Given the description of an element on the screen output the (x, y) to click on. 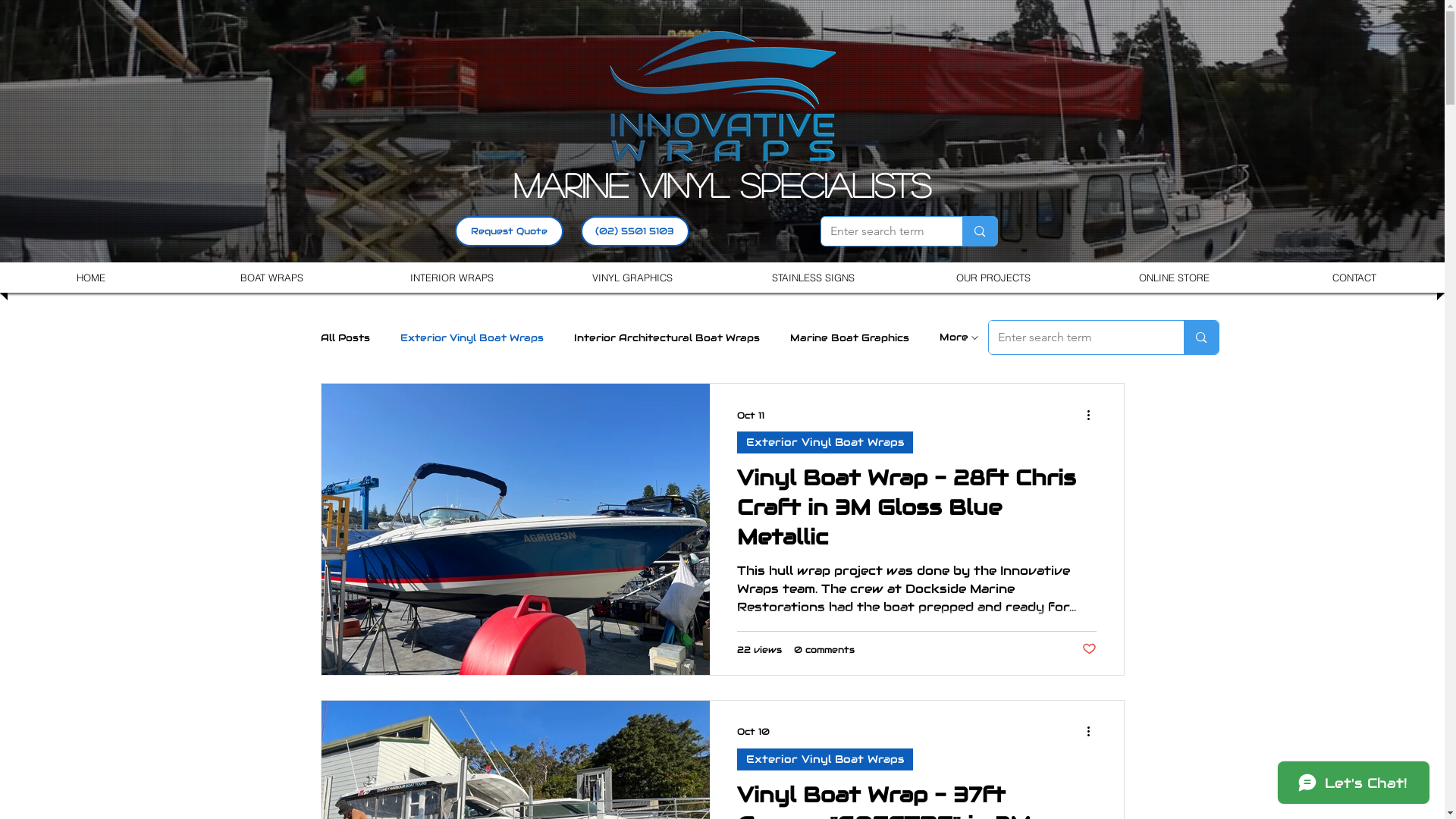
(02) 5501 5103 Element type: text (634, 231)
Vinyl Boat Wrap - 28ft Chris Craft in 3M Gloss Blue Metallic Element type: text (916, 511)
HOME Element type: text (90, 277)
All Posts Element type: text (344, 336)
Exterior Vinyl Boat Wraps Element type: text (471, 336)
Request Quote Element type: text (509, 231)
BOAT WRAPS Element type: text (271, 277)
STAINLESS SIGNS Element type: text (812, 277)
OUR PROJECTS Element type: text (992, 277)
Exterior Vinyl Boat Wraps Element type: text (825, 758)
CONTACT Element type: text (1353, 277)
ONLINE STORE Element type: text (1173, 277)
Post not marked as liked Element type: text (1088, 649)
Interior Architectural Boat Wraps Element type: text (666, 336)
Exterior Vinyl Boat Wraps Element type: text (825, 442)
VINYL GRAPHICS Element type: text (632, 277)
Marine Boat Graphics Element type: text (849, 336)
0 comments Element type: text (823, 649)
INTERIOR WRAPS Element type: text (451, 277)
